Given the description of an element on the screen output the (x, y) to click on. 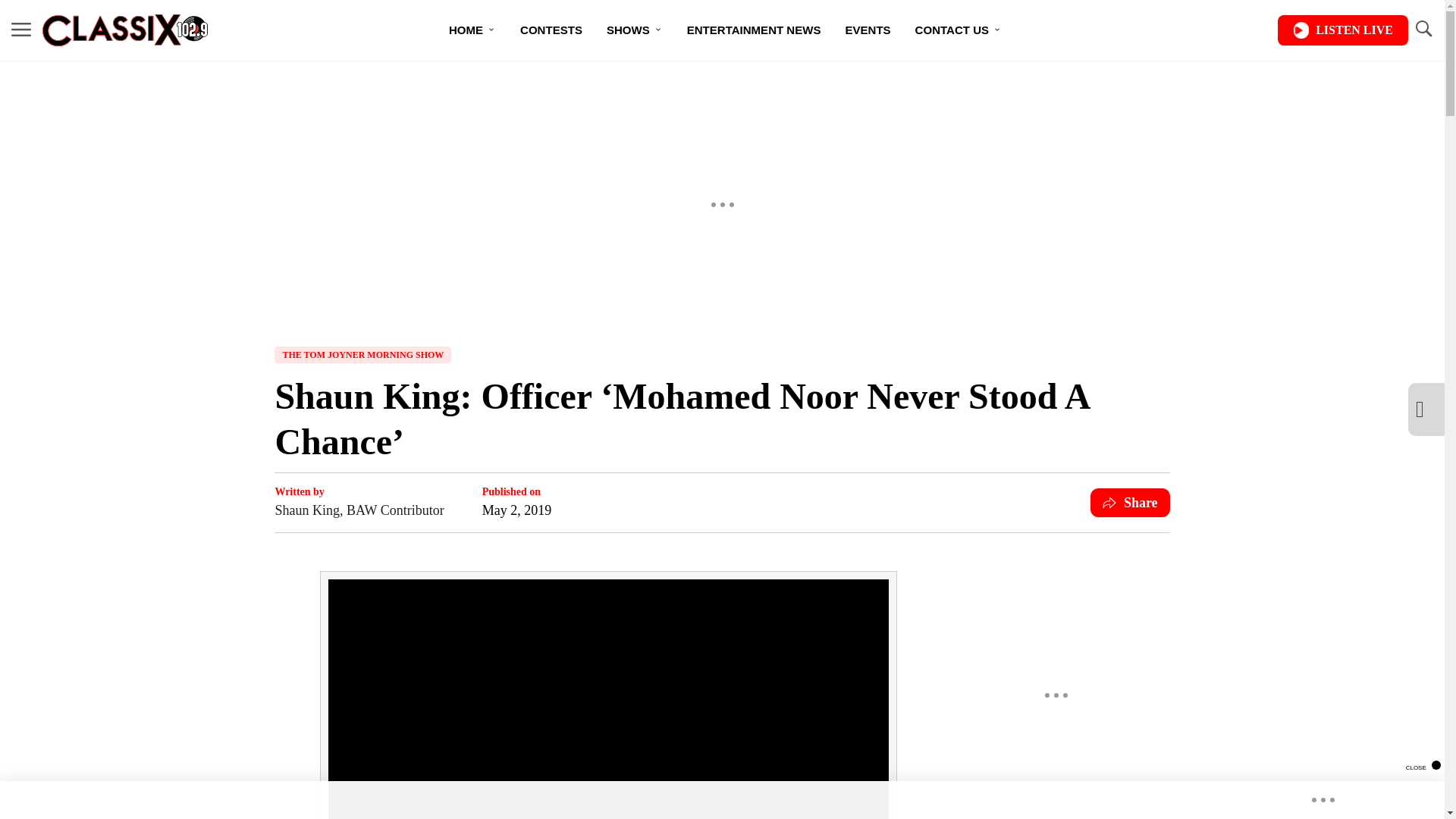
MENU (20, 30)
CONTACT US (957, 30)
TOGGLE SEARCH (1422, 28)
CONTESTS (551, 30)
HOME (472, 30)
Share (1130, 502)
LISTEN LIVE (1342, 30)
EVENTS (867, 30)
MENU (20, 29)
TOGGLE SEARCH (1422, 30)
